Given the description of an element on the screen output the (x, y) to click on. 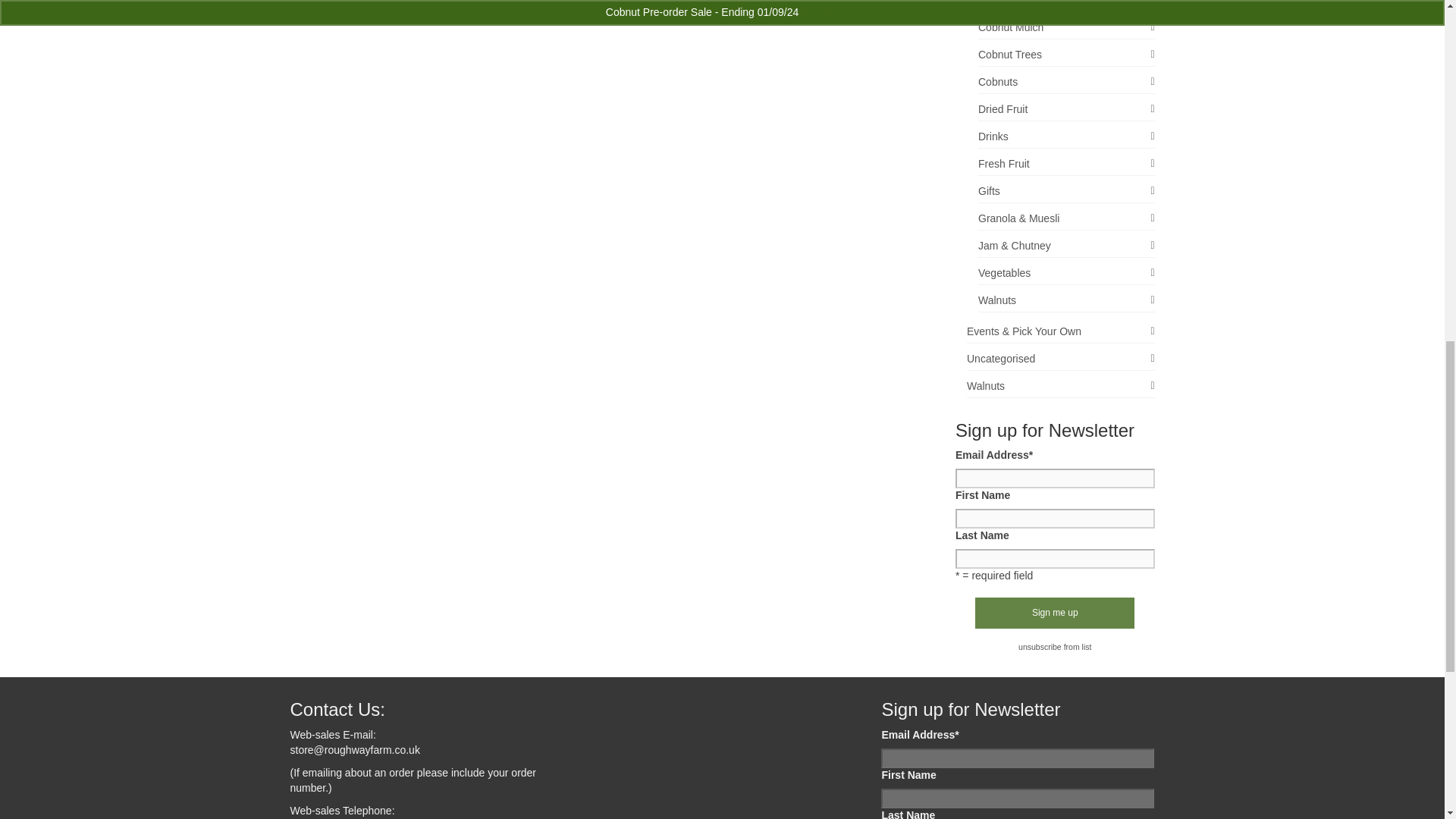
Cobnut Dukkah (1066, 6)
Sign me up (1054, 612)
Cobnut Mulch (1066, 27)
